Given the description of an element on the screen output the (x, y) to click on. 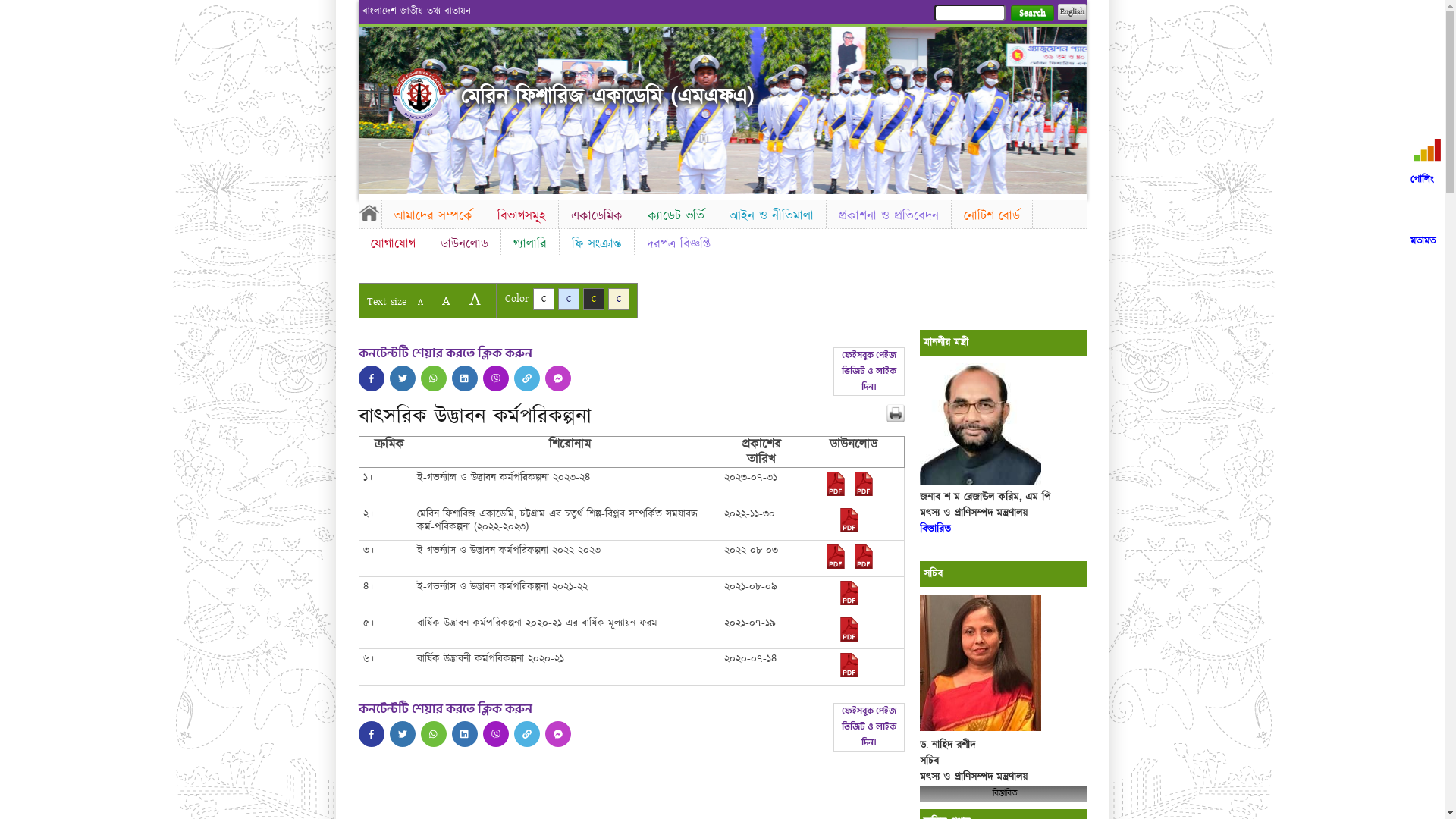
2022-11-30-07-36-f82b5afe315d9402b3232285633ddf25.pdf Element type: hover (849, 528)
Home Element type: hover (418, 94)
2022-08-03-06-26-86170153aa14c738dbb5ffa3e16d1267.pdf Element type: hover (835, 565)
A Element type: text (419, 301)
2023-07-31-09-17-785443f333b9fa75a77498dc5881d5d4.pdf Element type: hover (835, 492)
A Element type: text (474, 298)
English Element type: text (1071, 11)
C Element type: text (542, 299)
C Element type: text (568, 299)
Search Element type: text (1031, 13)
C Element type: text (592, 299)
Home Element type: hover (368, 211)
C Element type: text (618, 299)
A Element type: text (445, 300)
2022-08-03-06-26-35bdcedc01a4f4789b7ebbffe92531ee.pdf Element type: hover (863, 565)
2023-07-31-09-17-aede6a6518d45789e4386a425911d9d8.pdf Element type: hover (863, 492)
